Given the description of an element on the screen output the (x, y) to click on. 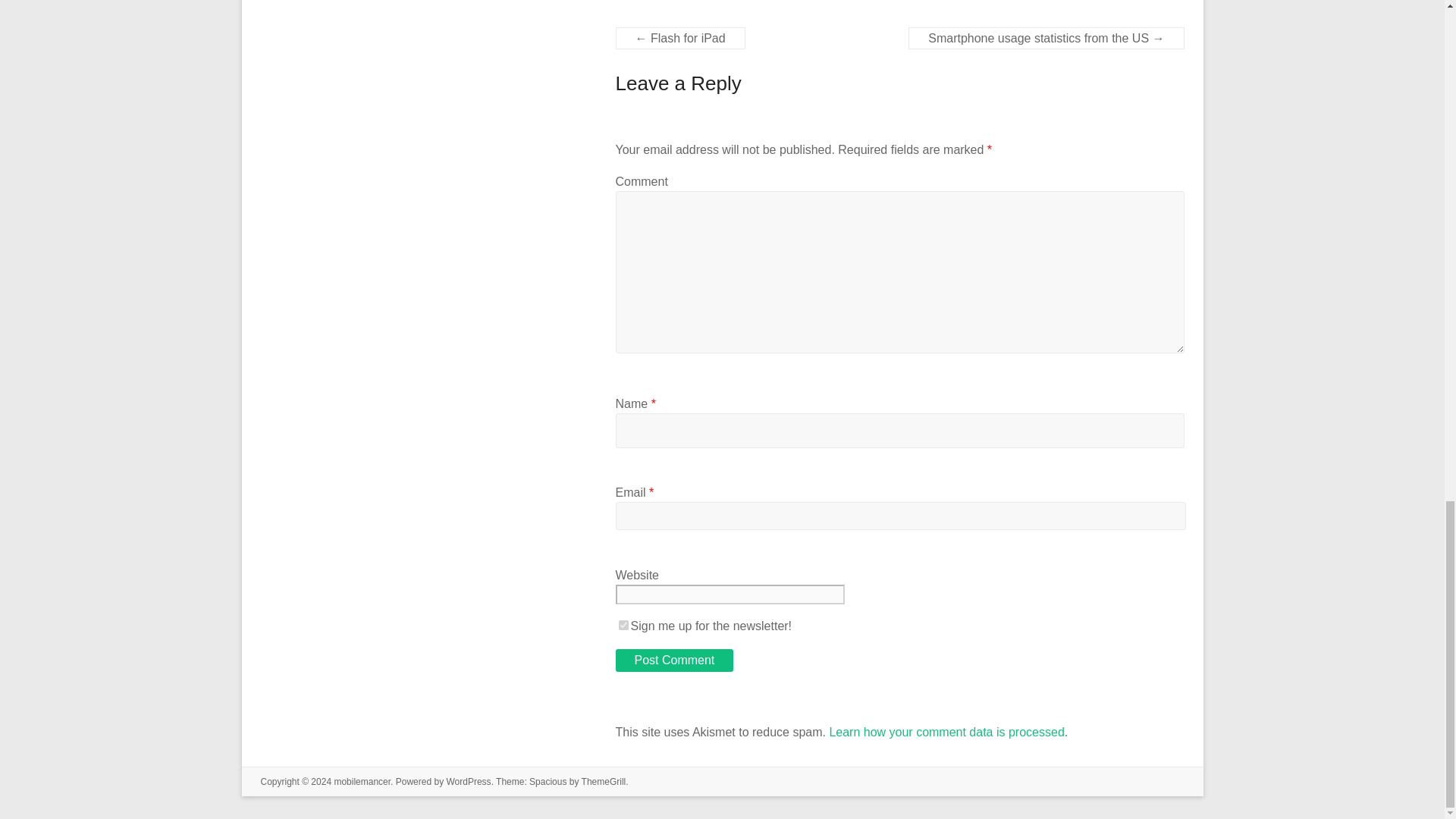
Post Comment (674, 660)
mobilemancer (361, 781)
ThemeGrill (603, 781)
ThemeGrill (603, 781)
1 (623, 624)
Learn how your comment data is processed (946, 731)
WordPress (467, 781)
WordPress (467, 781)
mobilemancer (361, 781)
Post Comment (674, 660)
